Given the description of an element on the screen output the (x, y) to click on. 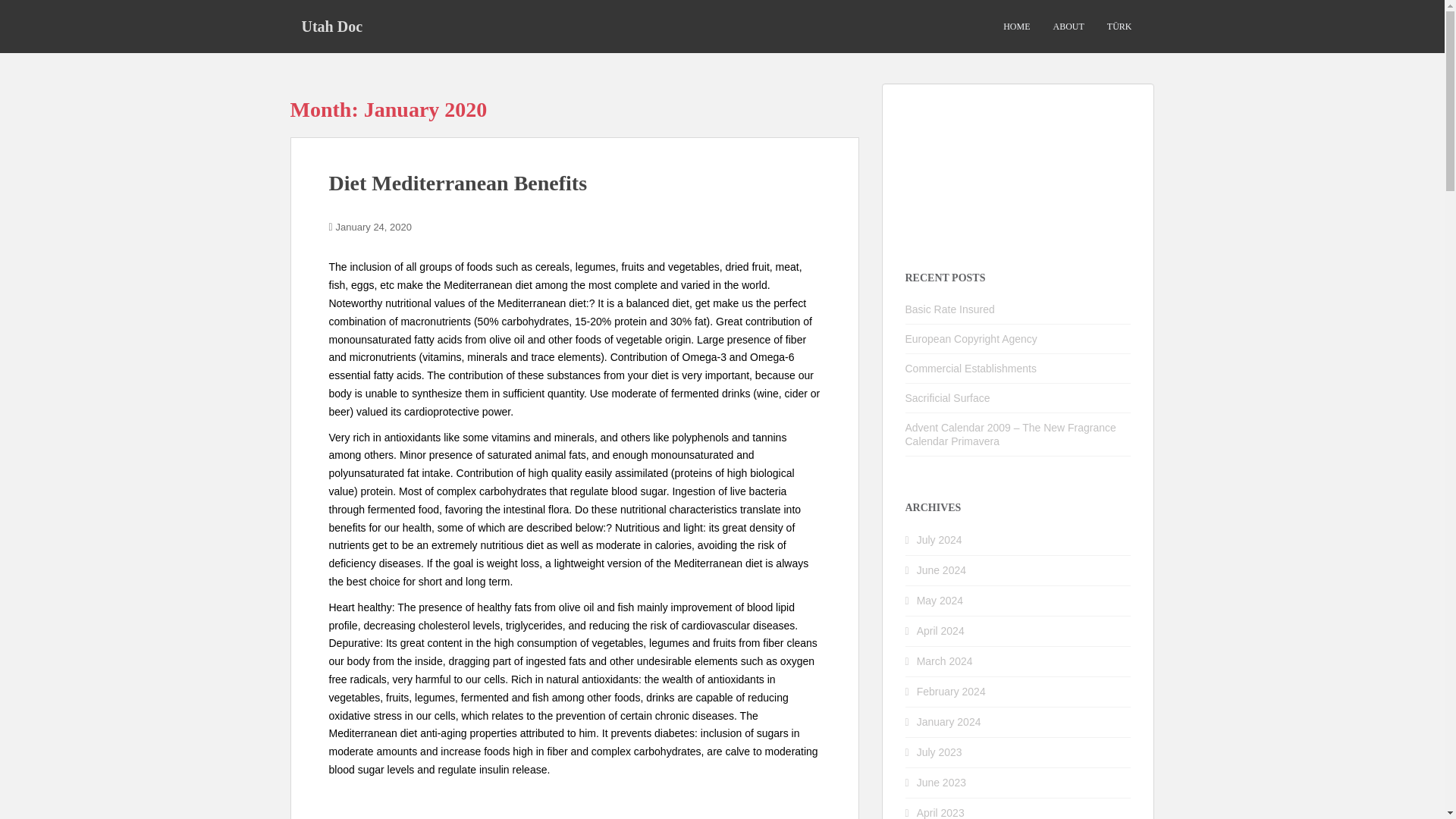
January 24, 2020 (374, 226)
ABOUT (1067, 26)
May 2024 (939, 600)
July 2024 (939, 539)
March 2024 (944, 661)
April 2024 (940, 630)
Basic Rate Insured (949, 309)
February 2024 (951, 691)
Utah Doc (331, 26)
January 2024 (949, 721)
Sacrificial Surface (947, 398)
Diet Mediterranean Benefits (458, 182)
June 2024 (941, 570)
Utah Doc (331, 26)
European Copyright Agency (970, 338)
